Given the description of an element on the screen output the (x, y) to click on. 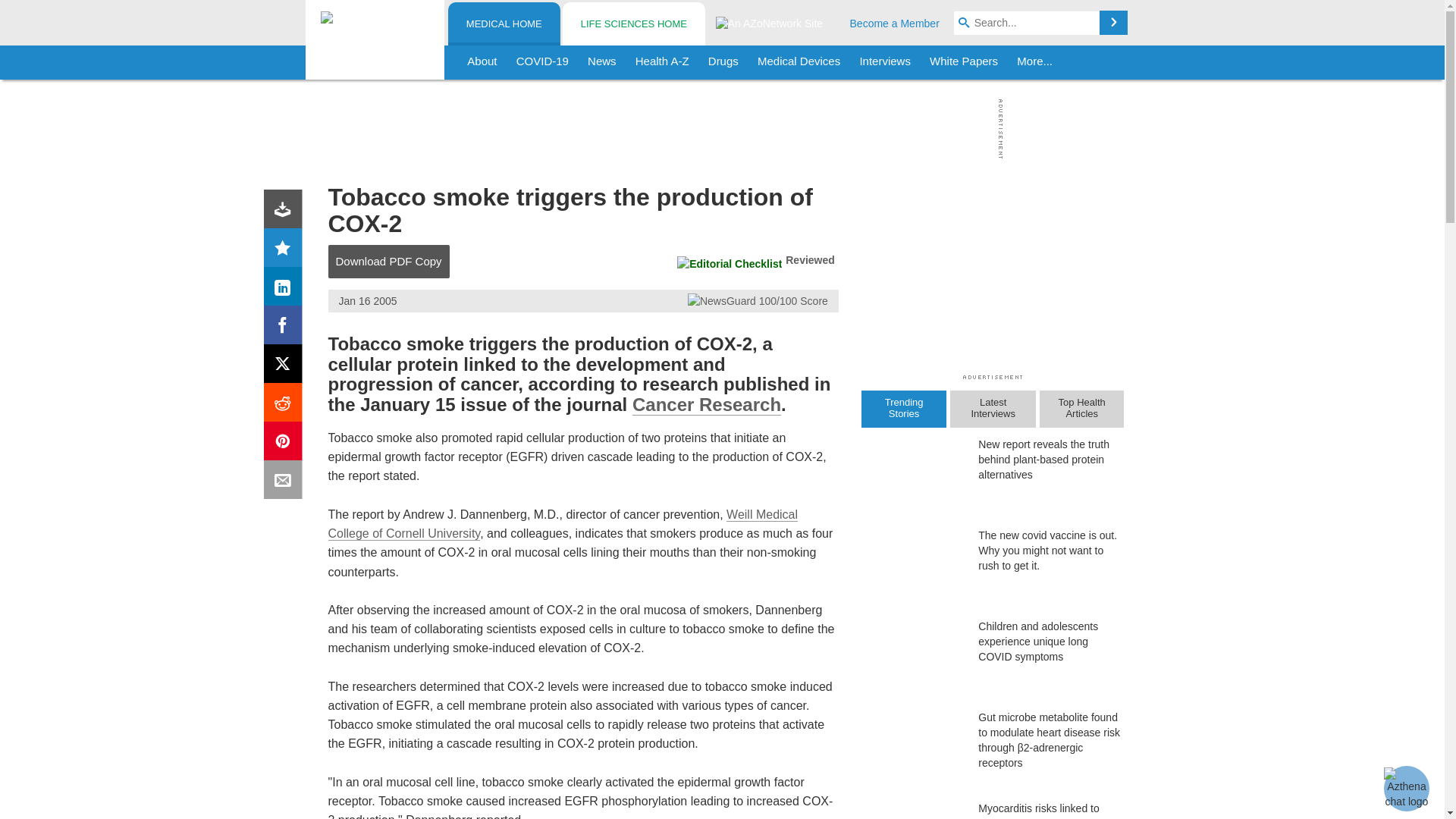
Drugs (722, 62)
MEDICAL HOME (504, 23)
Search (1112, 22)
Medical Devices (798, 62)
More... (1035, 62)
X (285, 366)
Facebook (285, 328)
About (482, 62)
COVID-19 (542, 62)
